Given the description of an element on the screen output the (x, y) to click on. 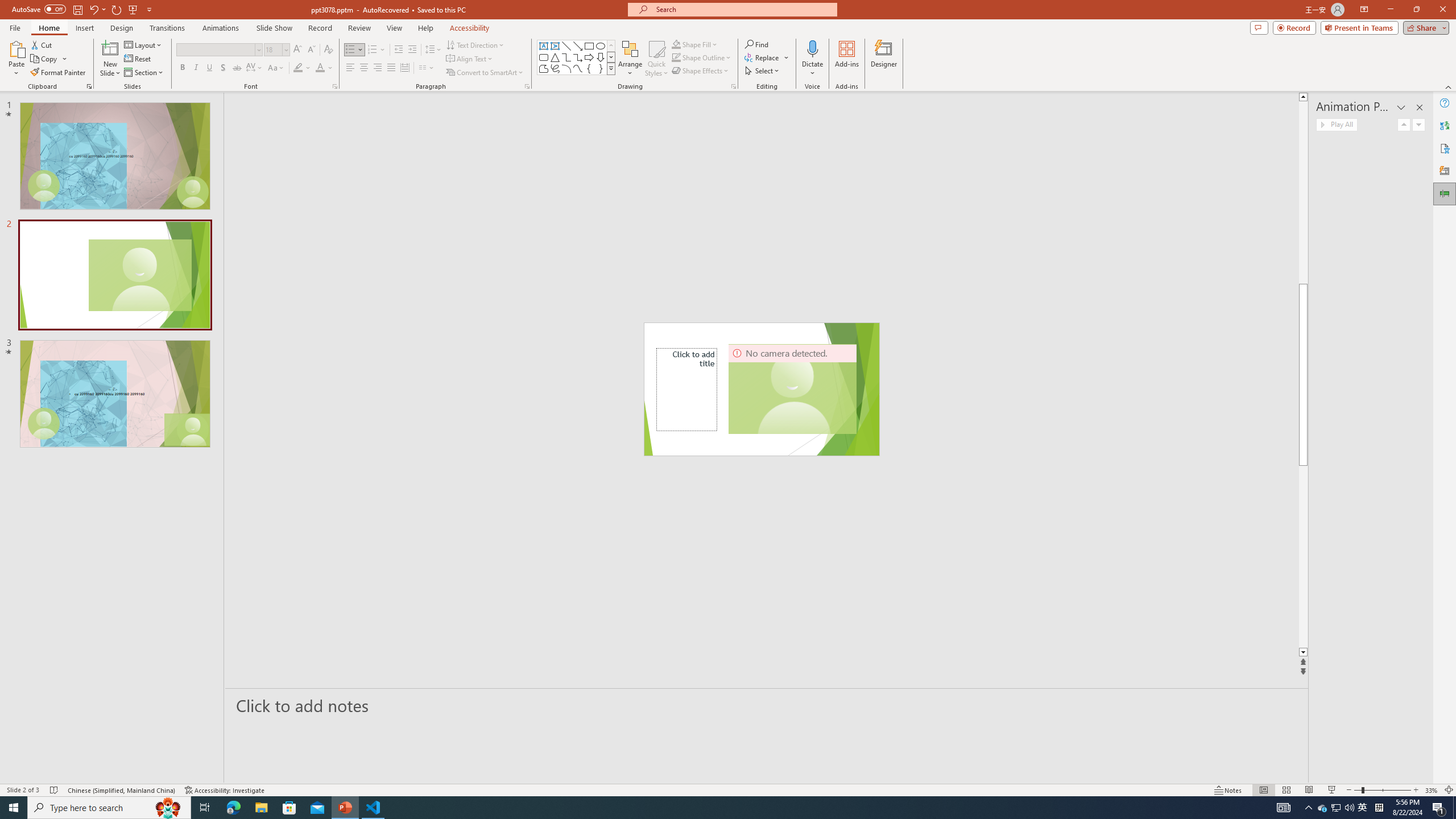
Shape Outline Green, Accent 1 (675, 56)
Zoom Out (1357, 790)
Rectangle (589, 45)
Align Right (377, 67)
Move Down (1418, 124)
Arc (566, 68)
Center (363, 67)
Italic (195, 67)
Columns (426, 67)
Open (285, 49)
Redo (117, 9)
Bullets (349, 49)
Text Direction (476, 44)
Decrease Font Size (310, 49)
